Given the description of an element on the screen output the (x, y) to click on. 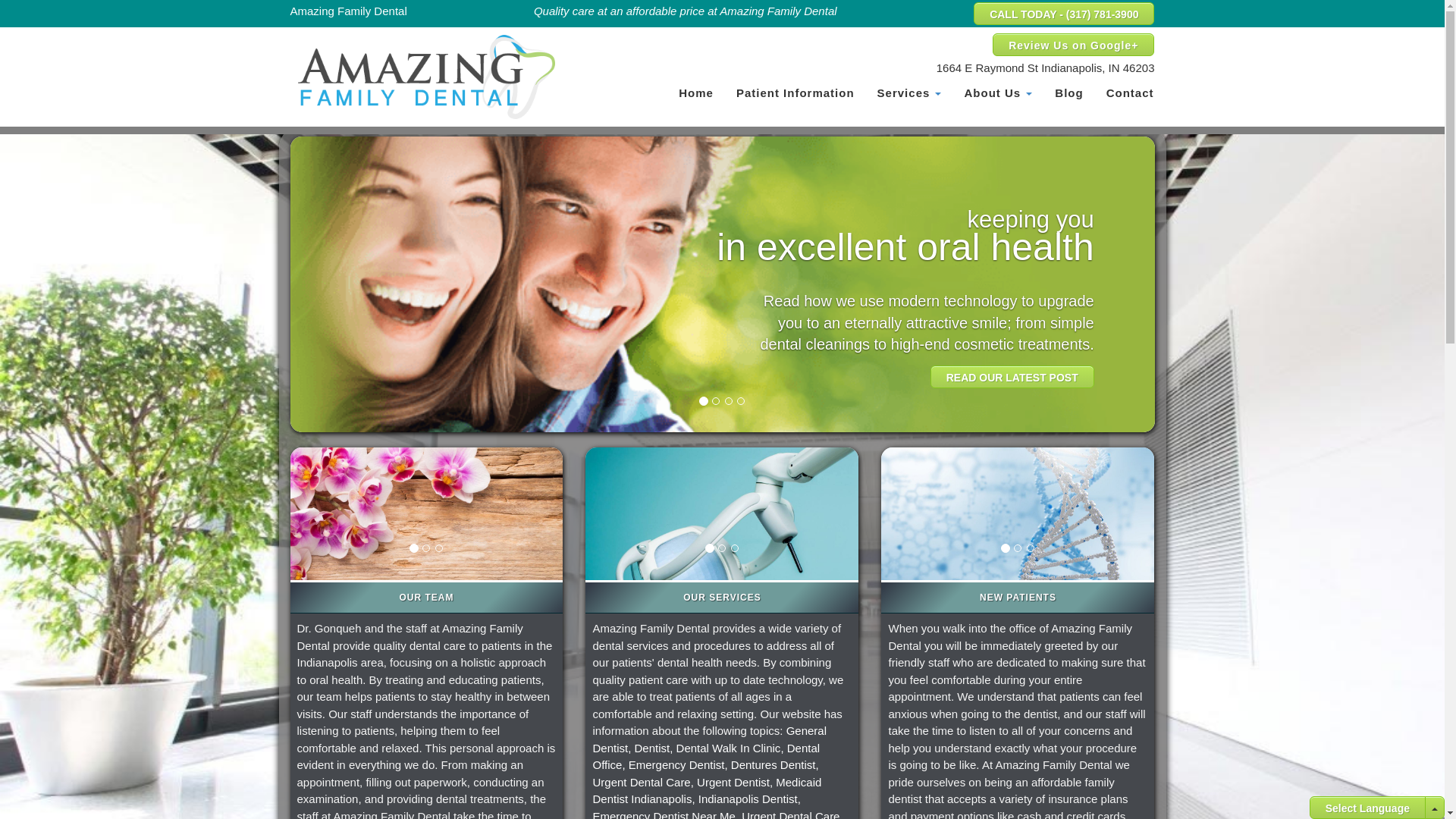
Urgent Dental Care (641, 780)
Dental Office (705, 757)
Medicaid Dentist Indianapolis (706, 789)
Indianapolis Dentist (747, 798)
Select Language (1366, 808)
Dentures Dentist (772, 764)
Select Language (1366, 807)
General Dentist (709, 738)
Urgent Dentist (733, 780)
Amazing Family Dental (425, 76)
Emergency Dentist (676, 764)
1664 E Raymond St Indianapolis, IN 46203 (1045, 66)
Dentist (651, 748)
Dental Walk In Clinic (728, 748)
Home (695, 93)
